Given the description of an element on the screen output the (x, y) to click on. 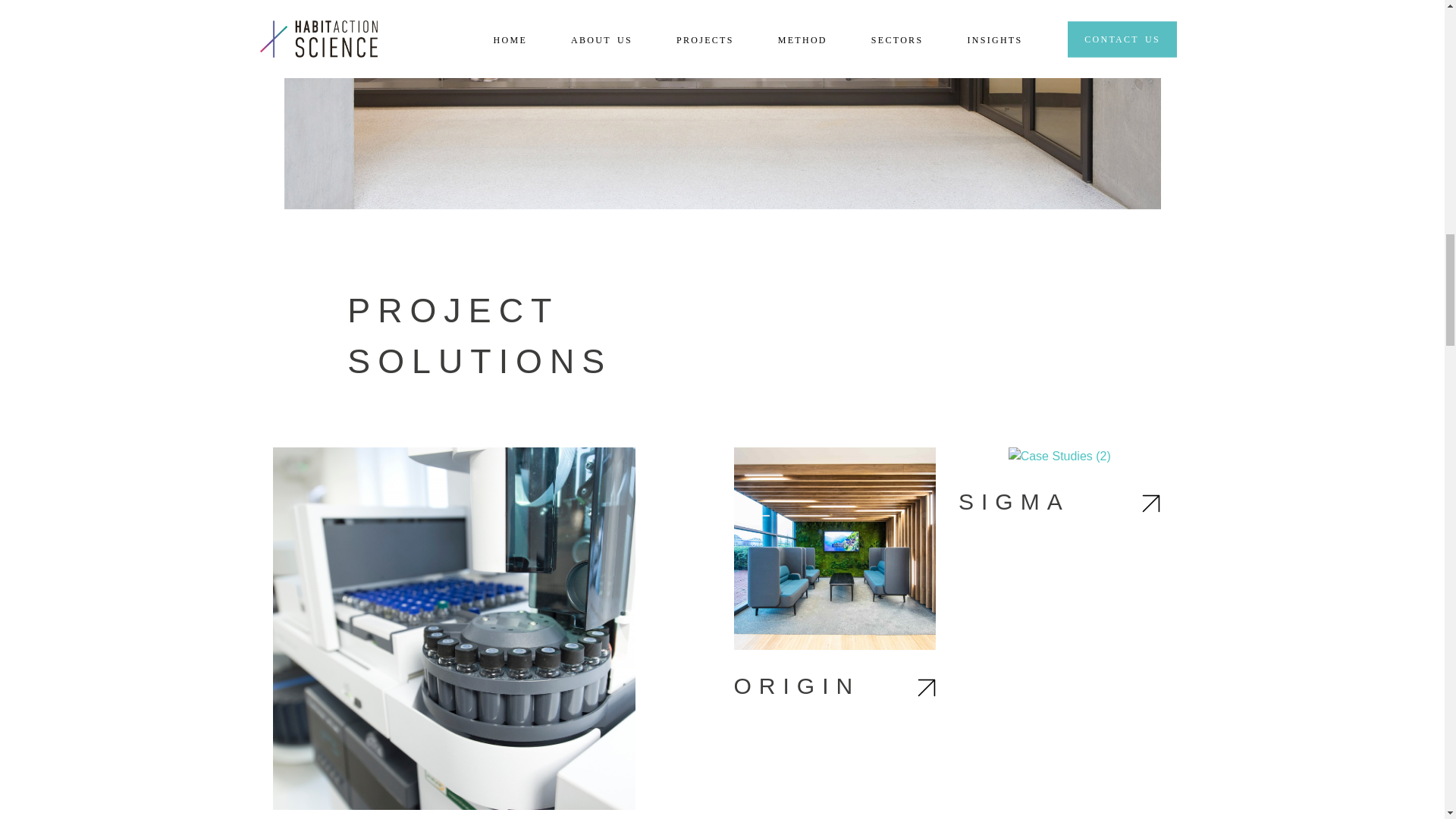
project-arrow (926, 687)
1-Feb-05-2024-03-01-47-4207-PM (834, 548)
5-3 (453, 628)
project-arrow (1150, 503)
